Given the description of an element on the screen output the (x, y) to click on. 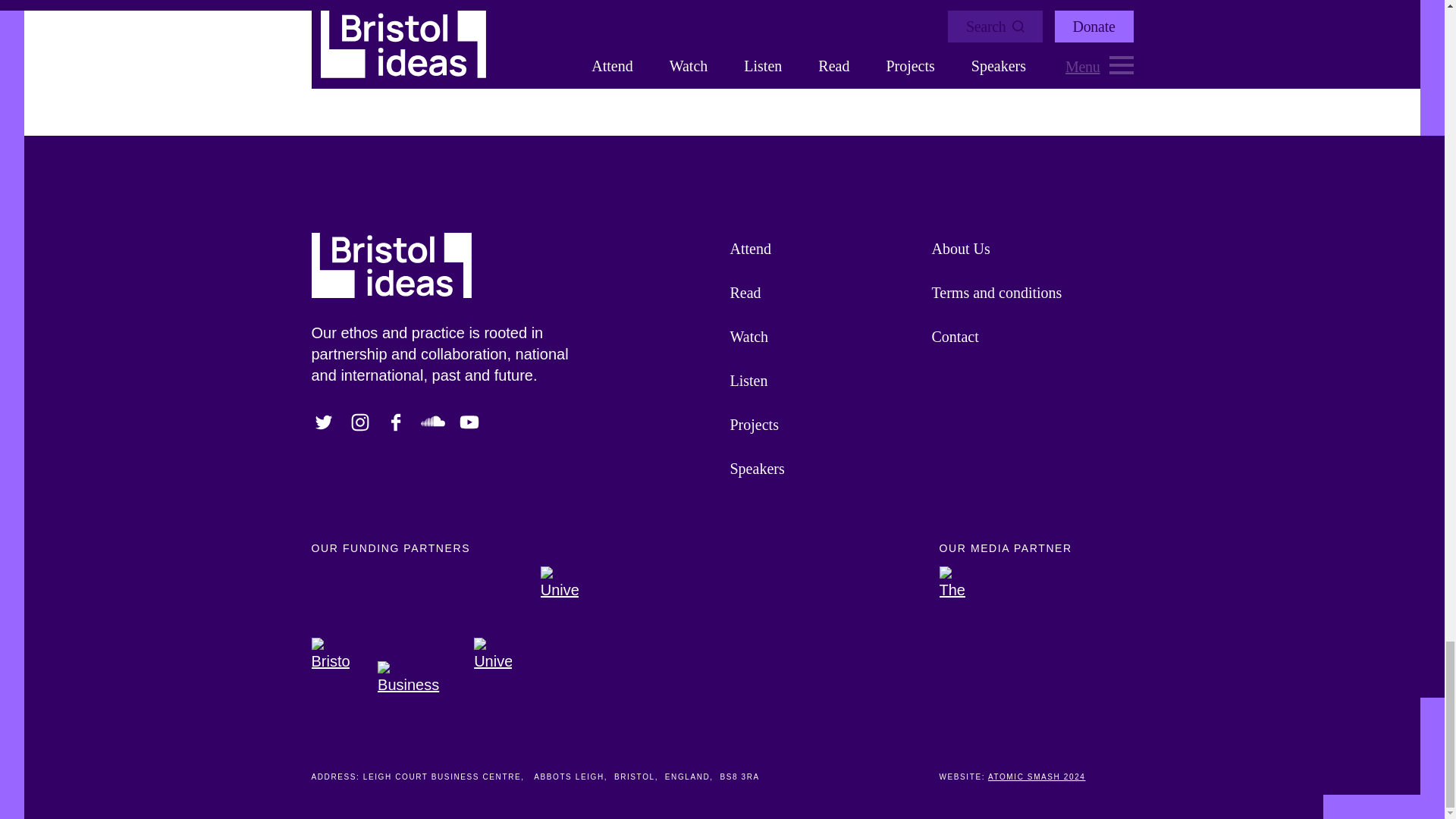
Speakers (822, 468)
Listen (822, 380)
Read (822, 292)
Attend (822, 248)
Watch (822, 336)
About Us (1024, 248)
Projects (822, 424)
